Given the description of an element on the screen output the (x, y) to click on. 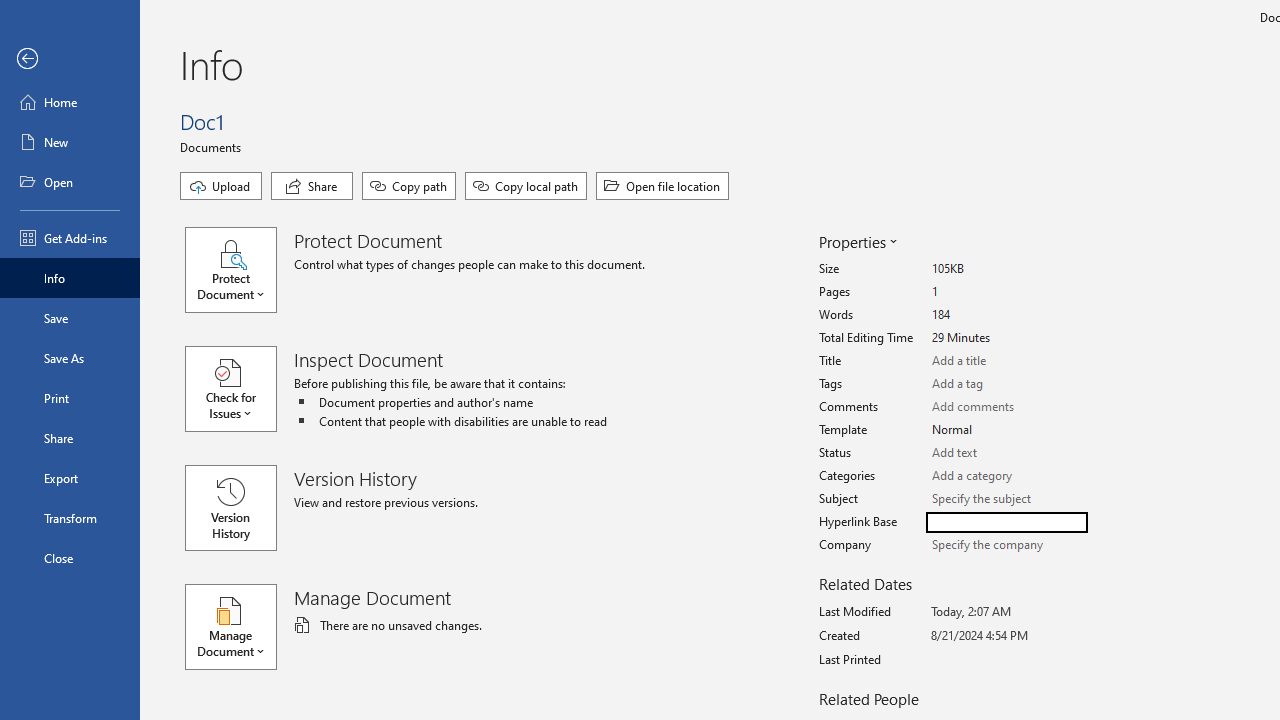
Documents (213, 146)
New (69, 141)
Share (69, 437)
Pages (1006, 291)
Total Editing Time (1006, 338)
Save (69, 317)
Title (1006, 361)
Tags (1006, 384)
Copy path (408, 186)
Comments (1006, 407)
Manage Document (239, 626)
Subject (1006, 499)
Info (69, 277)
